Given the description of an element on the screen output the (x, y) to click on. 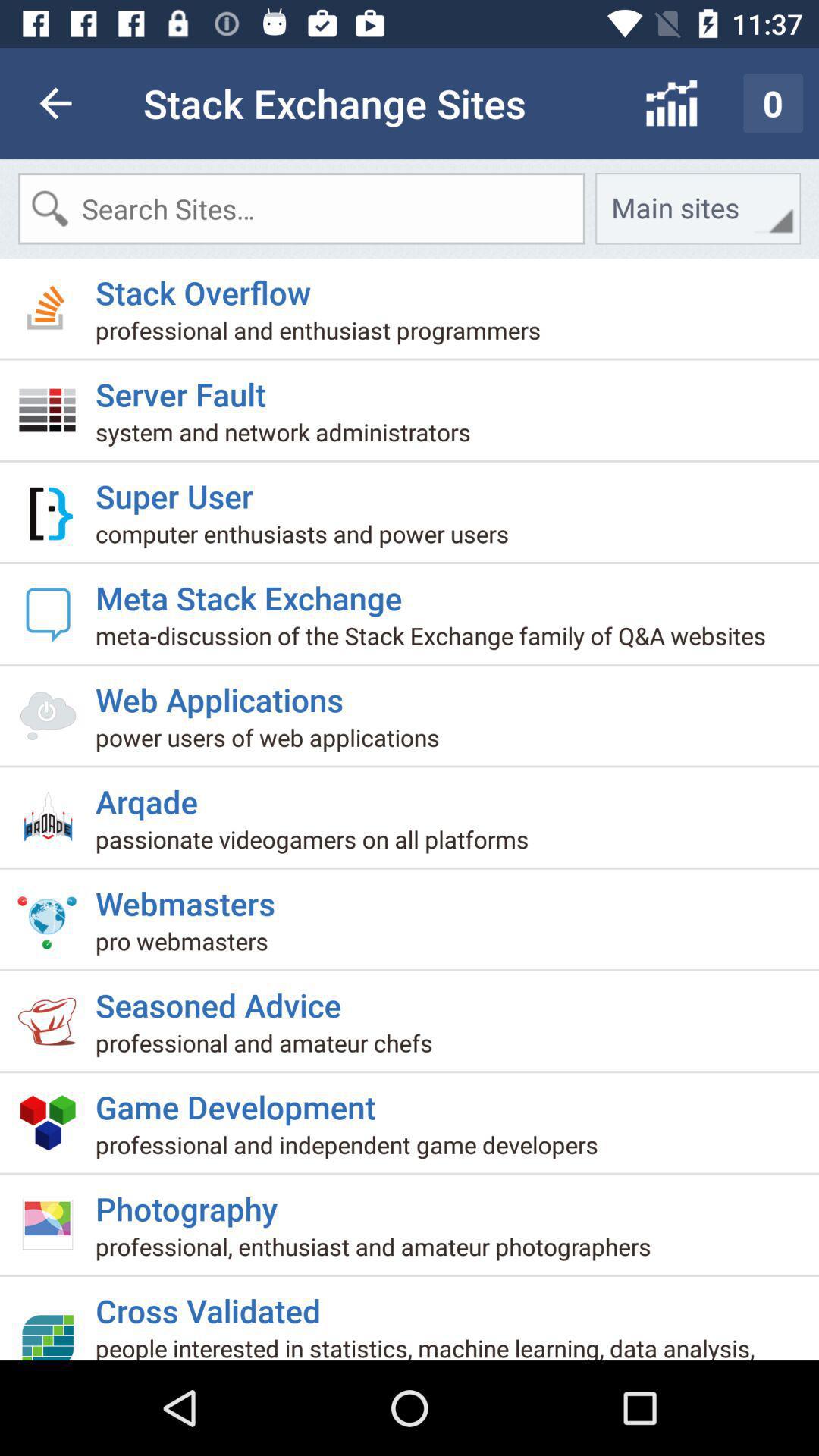
press the icon above the webmasters item (317, 844)
